Given the description of an element on the screen output the (x, y) to click on. 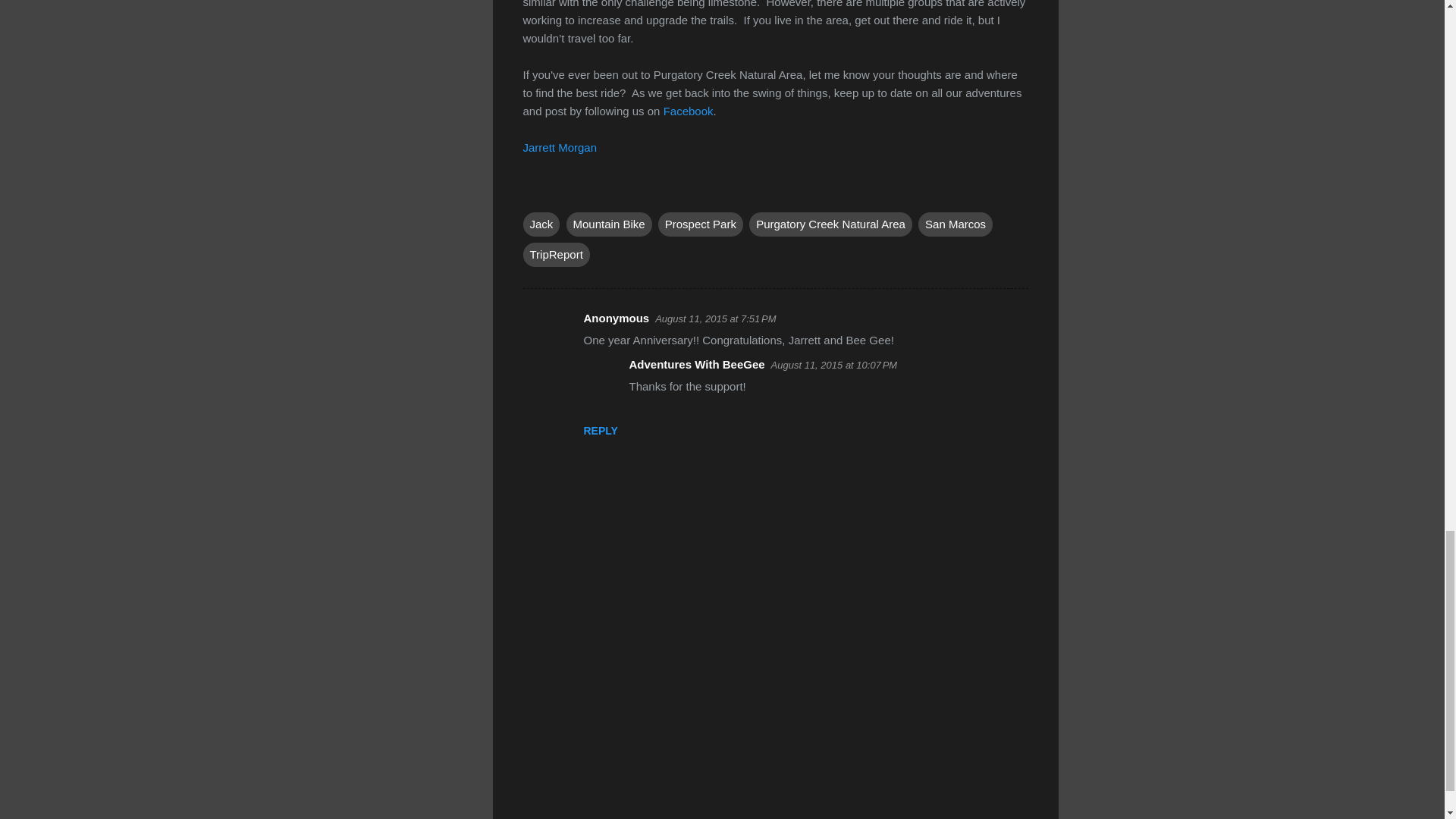
Facebook (688, 110)
San Marcos (955, 224)
Jarrett Morgan (559, 146)
Prospect Park (700, 224)
REPLY (600, 430)
Jack (541, 224)
Purgatory Creek Natural Area (830, 224)
TripReport (555, 254)
Mountain Bike (609, 224)
Adventures With BeeGee (696, 364)
